Given the description of an element on the screen output the (x, y) to click on. 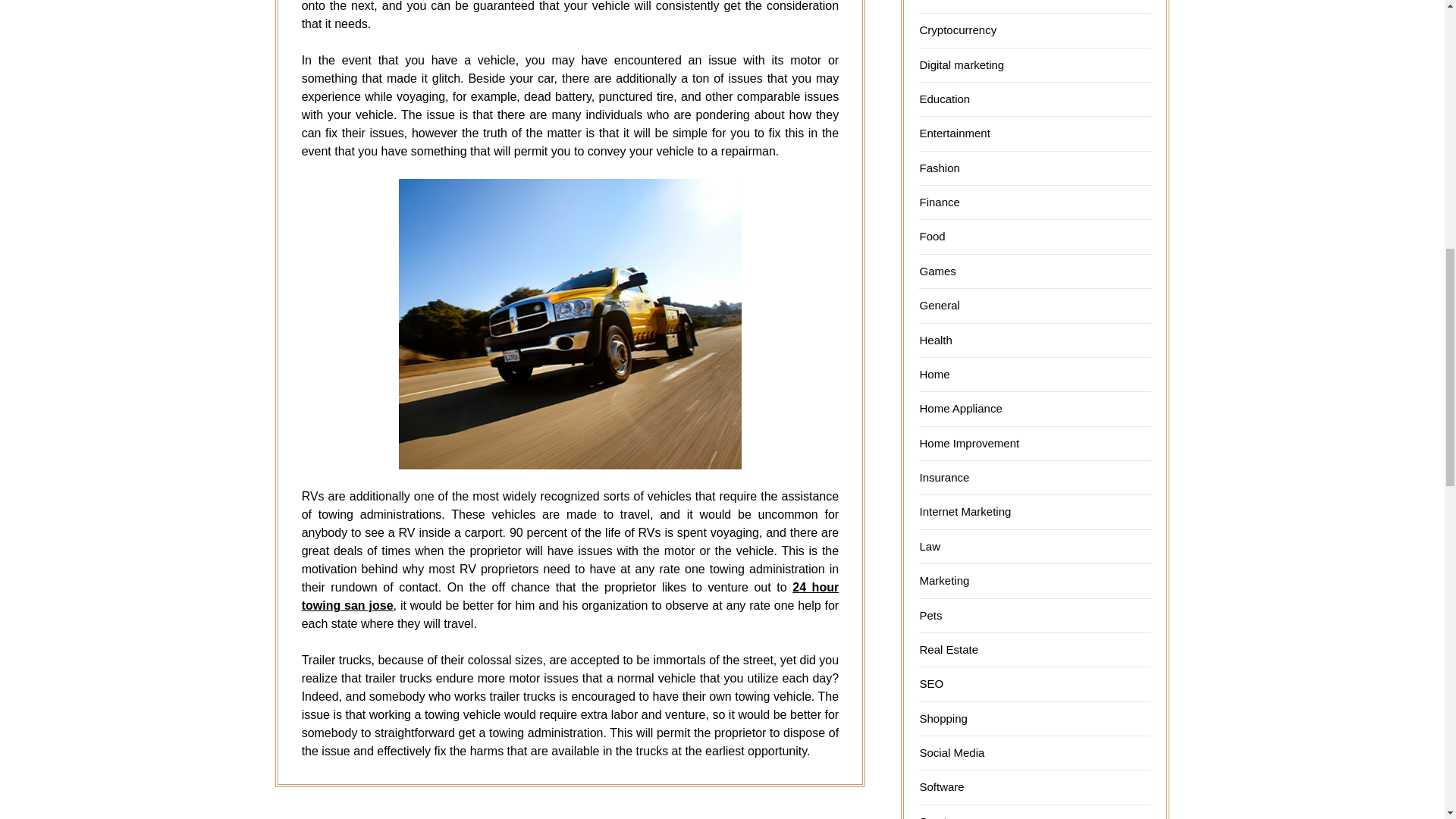
Cryptocurrency (956, 29)
Education (943, 98)
Law (929, 545)
Software (940, 786)
Pets (930, 615)
24 hour towing san jose (570, 595)
Home (933, 373)
Insurance (943, 477)
Fashion (938, 167)
Health (935, 339)
Home Improvement (968, 442)
Food (931, 236)
Home Appliance (959, 408)
Digital marketing (961, 64)
General (938, 305)
